Given the description of an element on the screen output the (x, y) to click on. 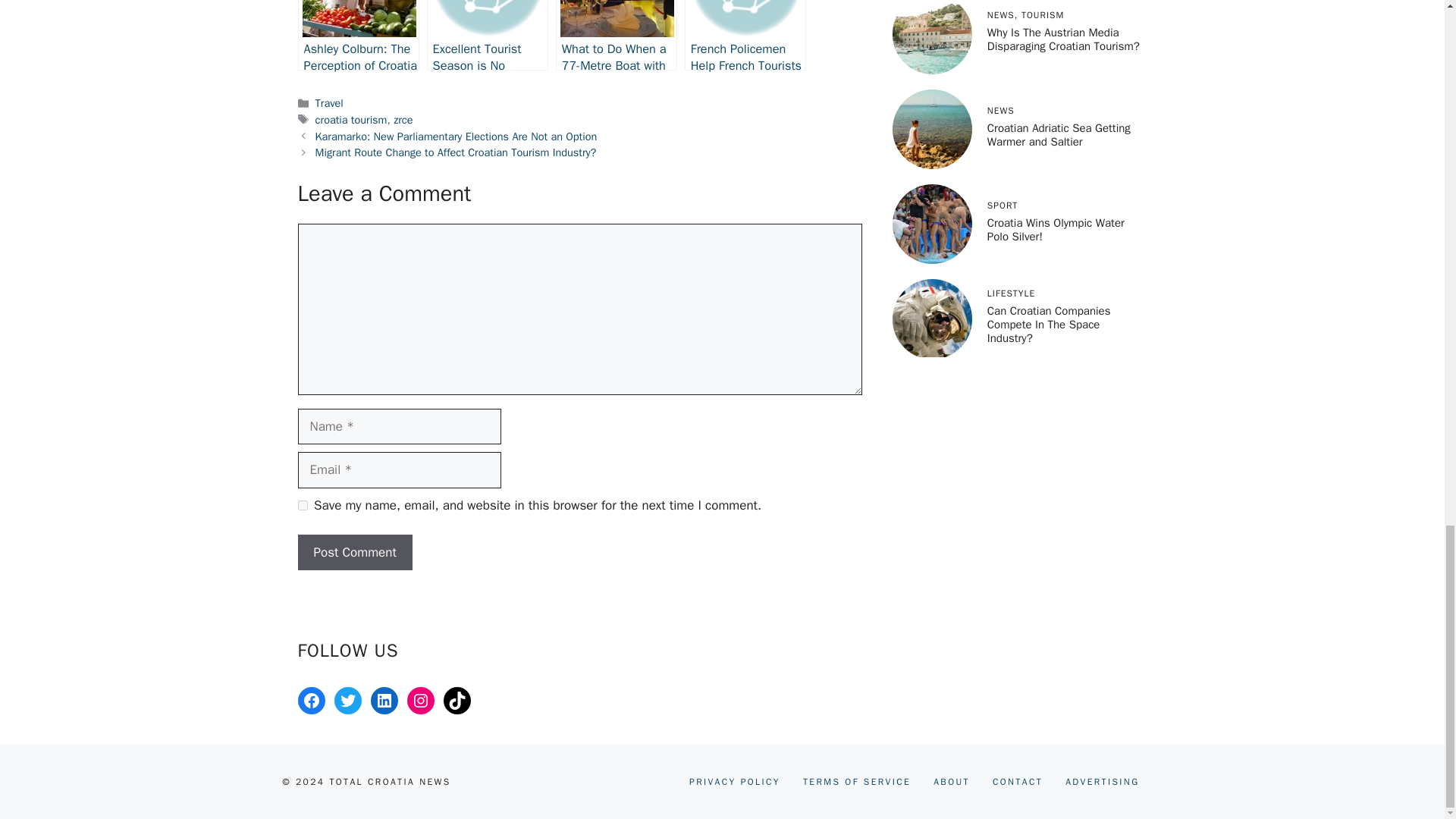
yes (302, 505)
French Policemen Help French Tourists in Split (745, 35)
Post Comment (354, 552)
Excellent Tourist Season is No Accident (487, 35)
